Given the description of an element on the screen output the (x, y) to click on. 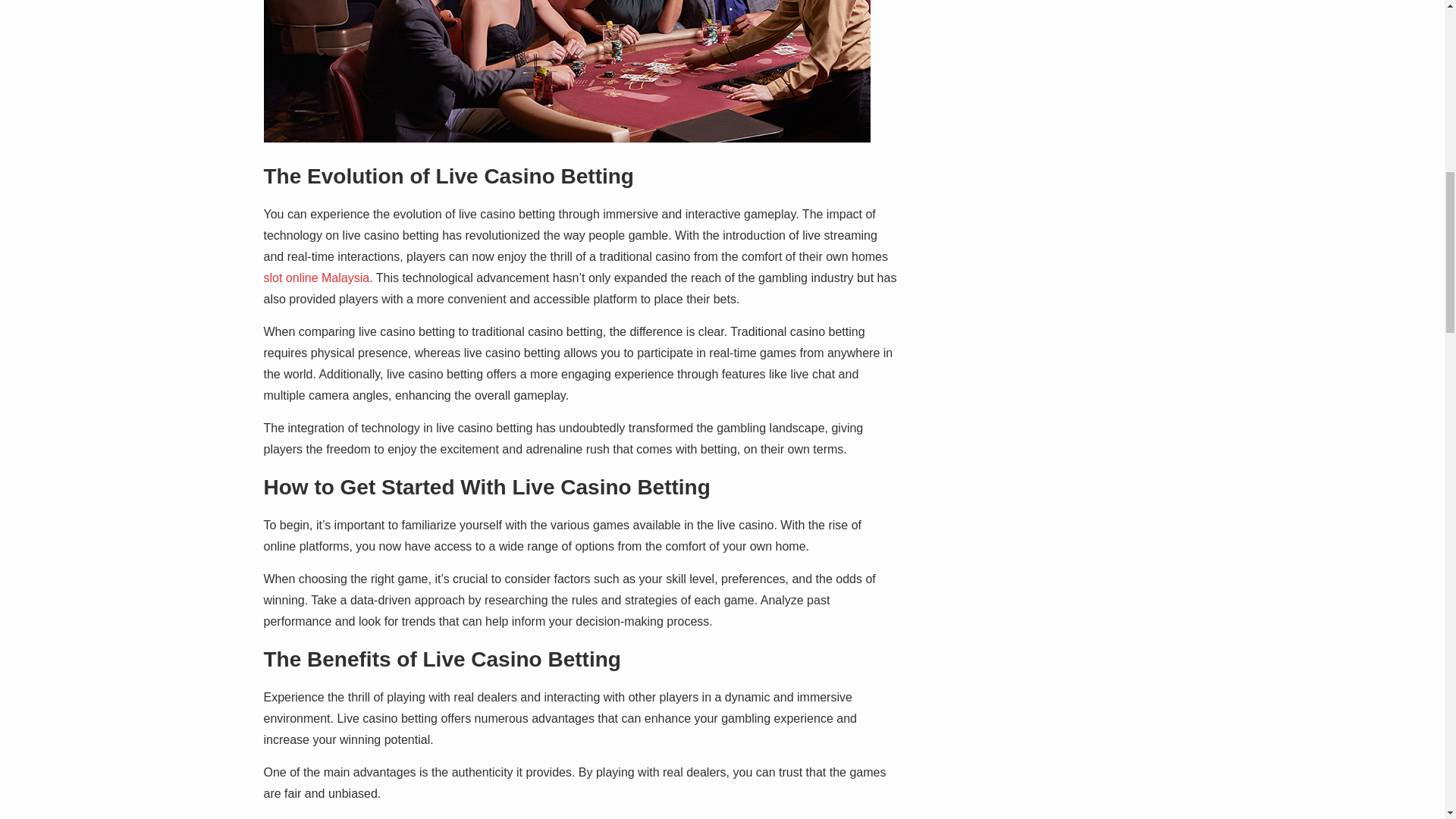
slot online Malaysia (316, 277)
YouTube video player (1053, 43)
